Given the description of an element on the screen output the (x, y) to click on. 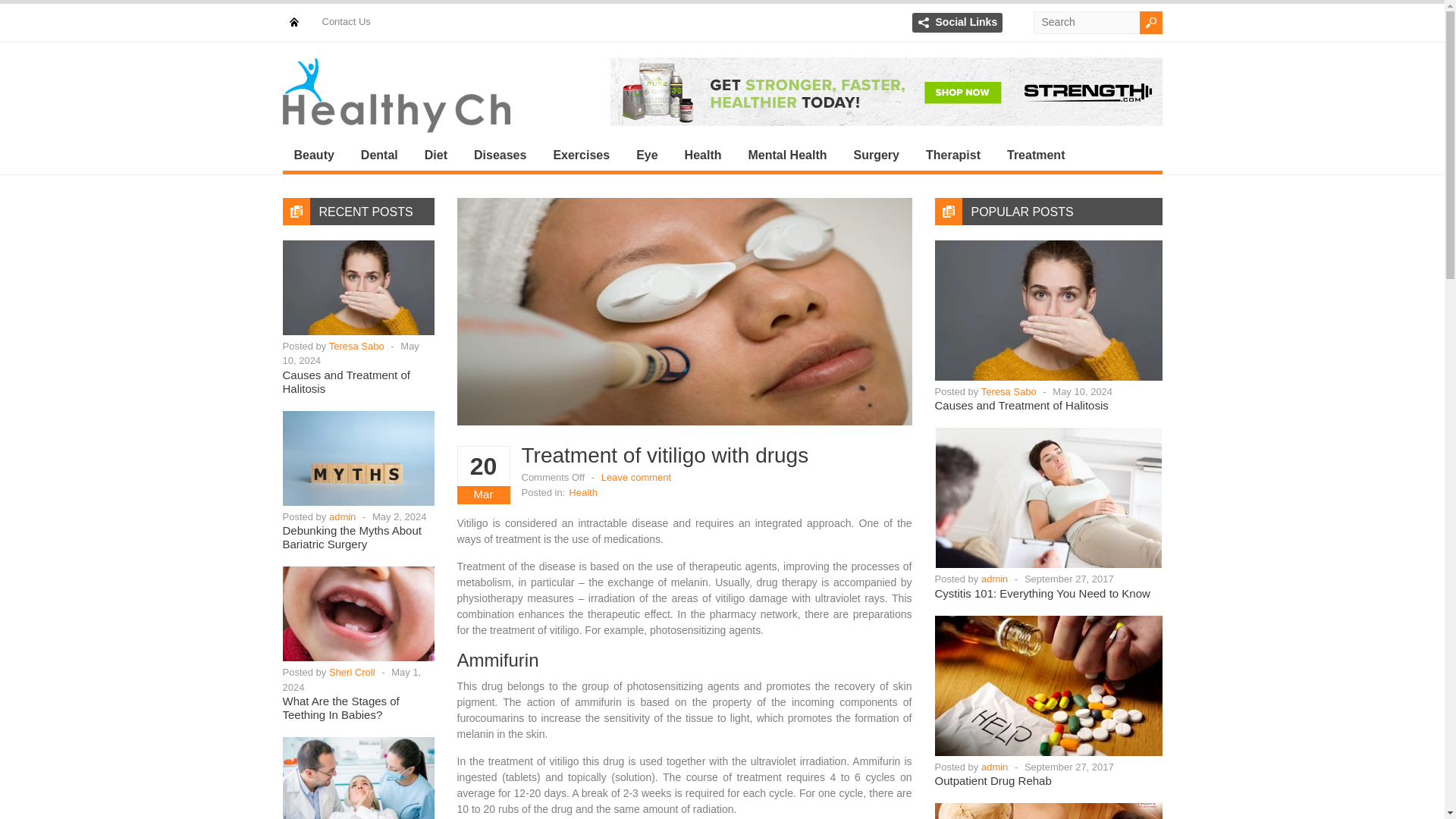
Diet (445, 154)
Dental (388, 154)
Health (582, 491)
Search (1149, 22)
Posts by Teresa Sabo (1008, 390)
Treatment (1045, 154)
Beauty (322, 154)
Mental Health (797, 154)
Search (1149, 22)
Posts by admin (994, 578)
Therapist (962, 154)
Posts by Teresa Sabo (356, 345)
Exercises (589, 154)
Social Links (966, 21)
Diseases (509, 154)
